Given the description of an element on the screen output the (x, y) to click on. 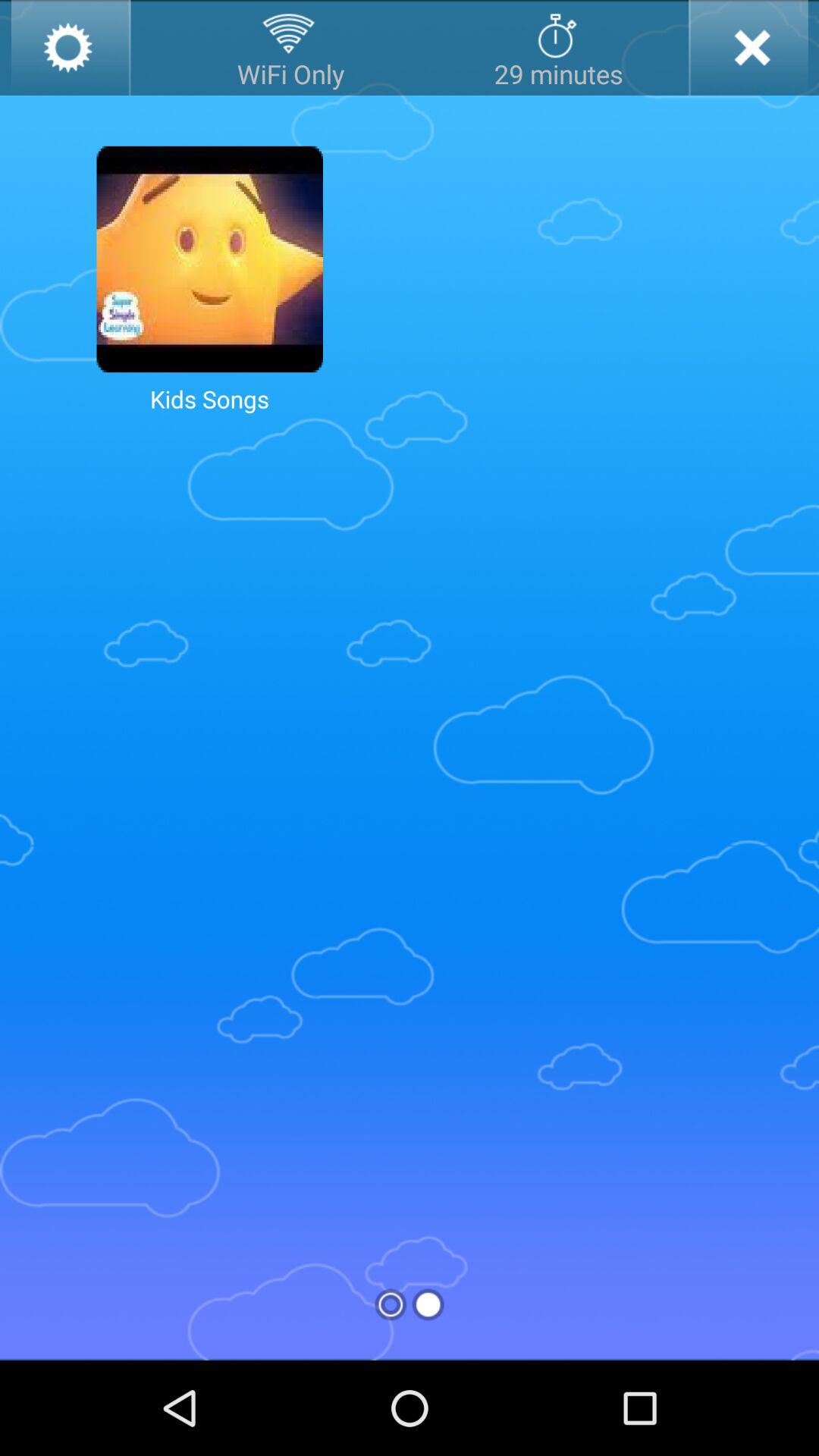
wifi access only (290, 47)
